Given the description of an element on the screen output the (x, y) to click on. 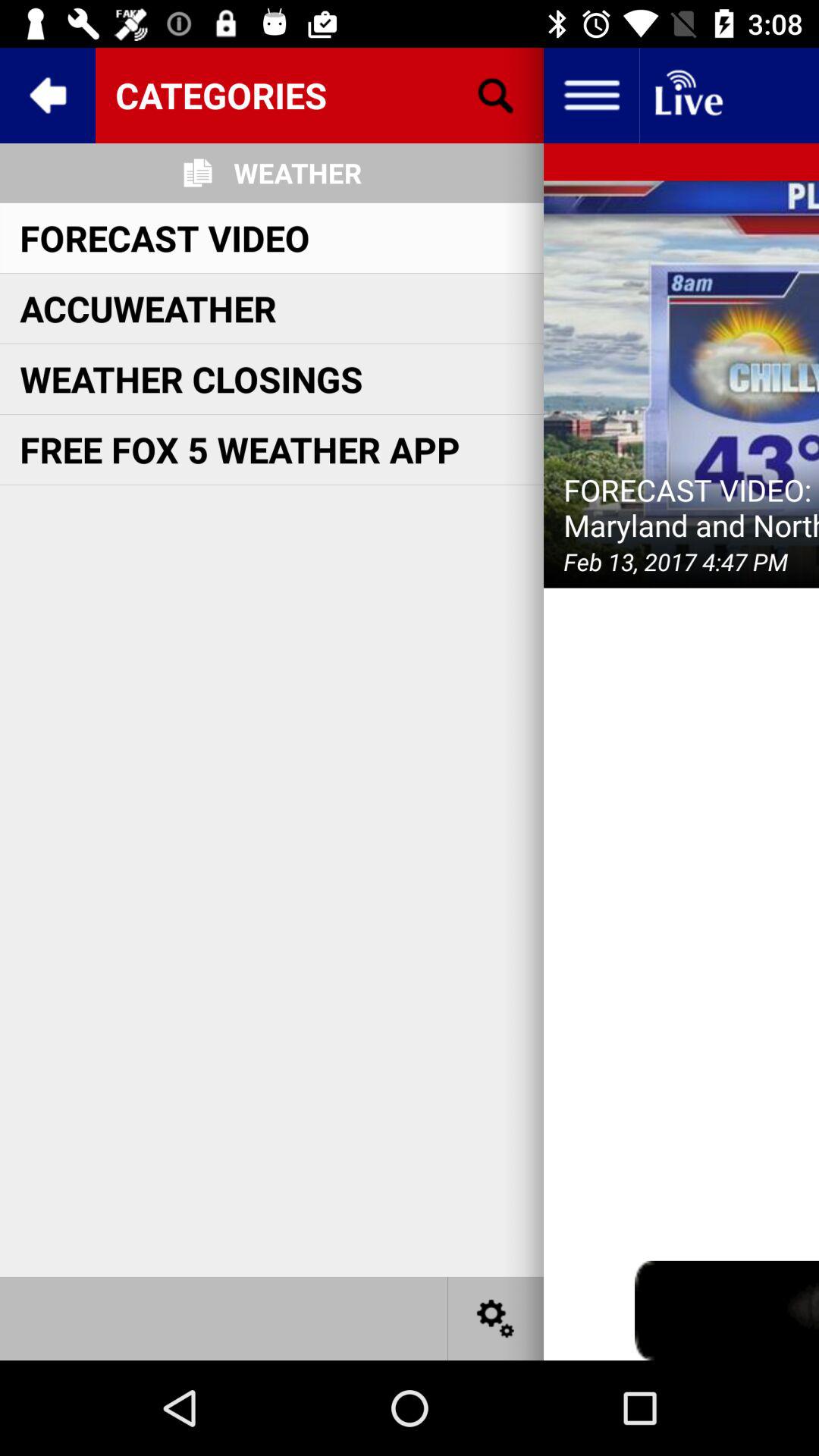
launch icon below weather (164, 237)
